Given the description of an element on the screen output the (x, y) to click on. 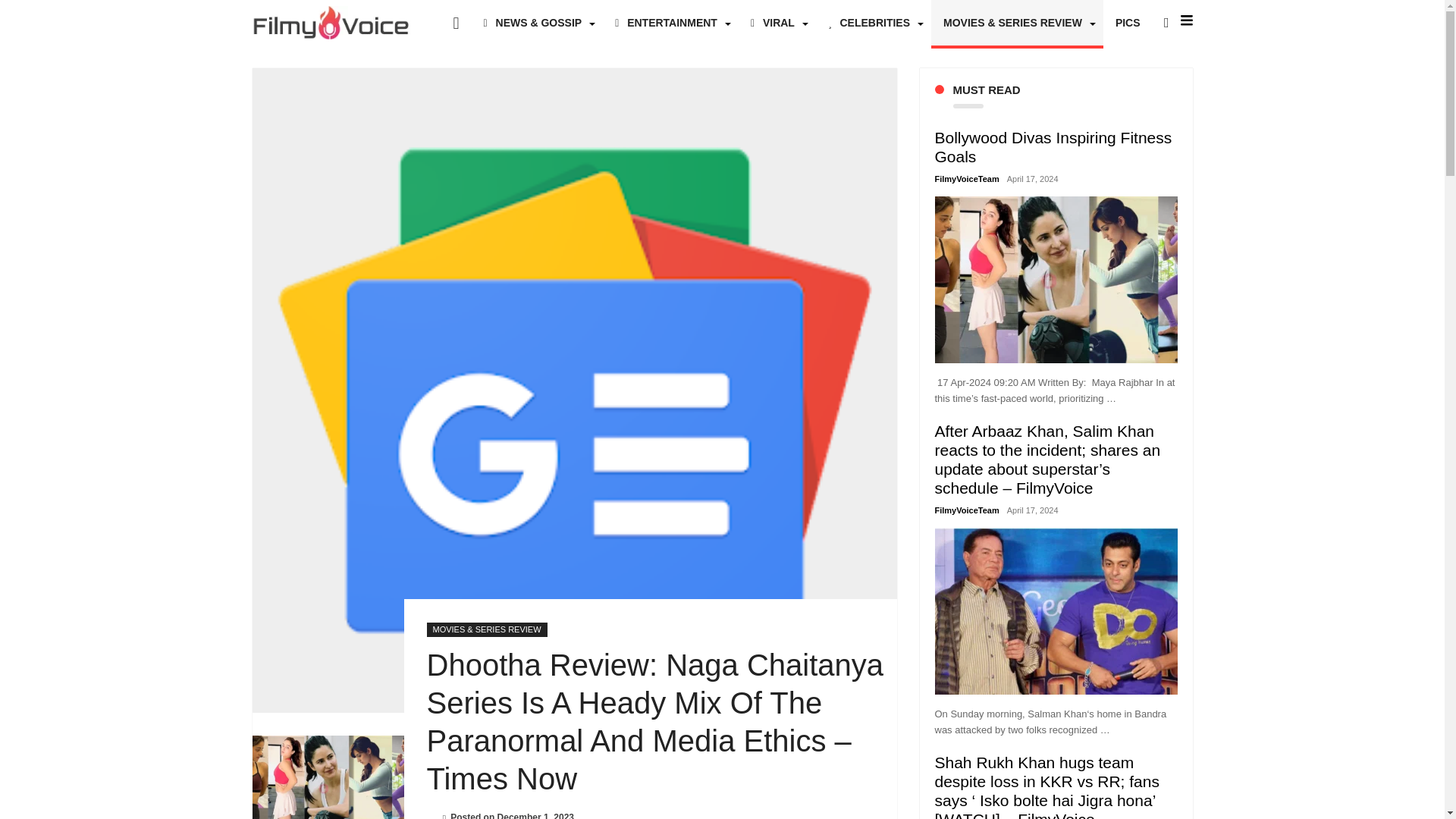
ENTERTAINMENT (670, 22)
VIRAL (776, 22)
CELEBRITIES (873, 22)
